Given the description of an element on the screen output the (x, y) to click on. 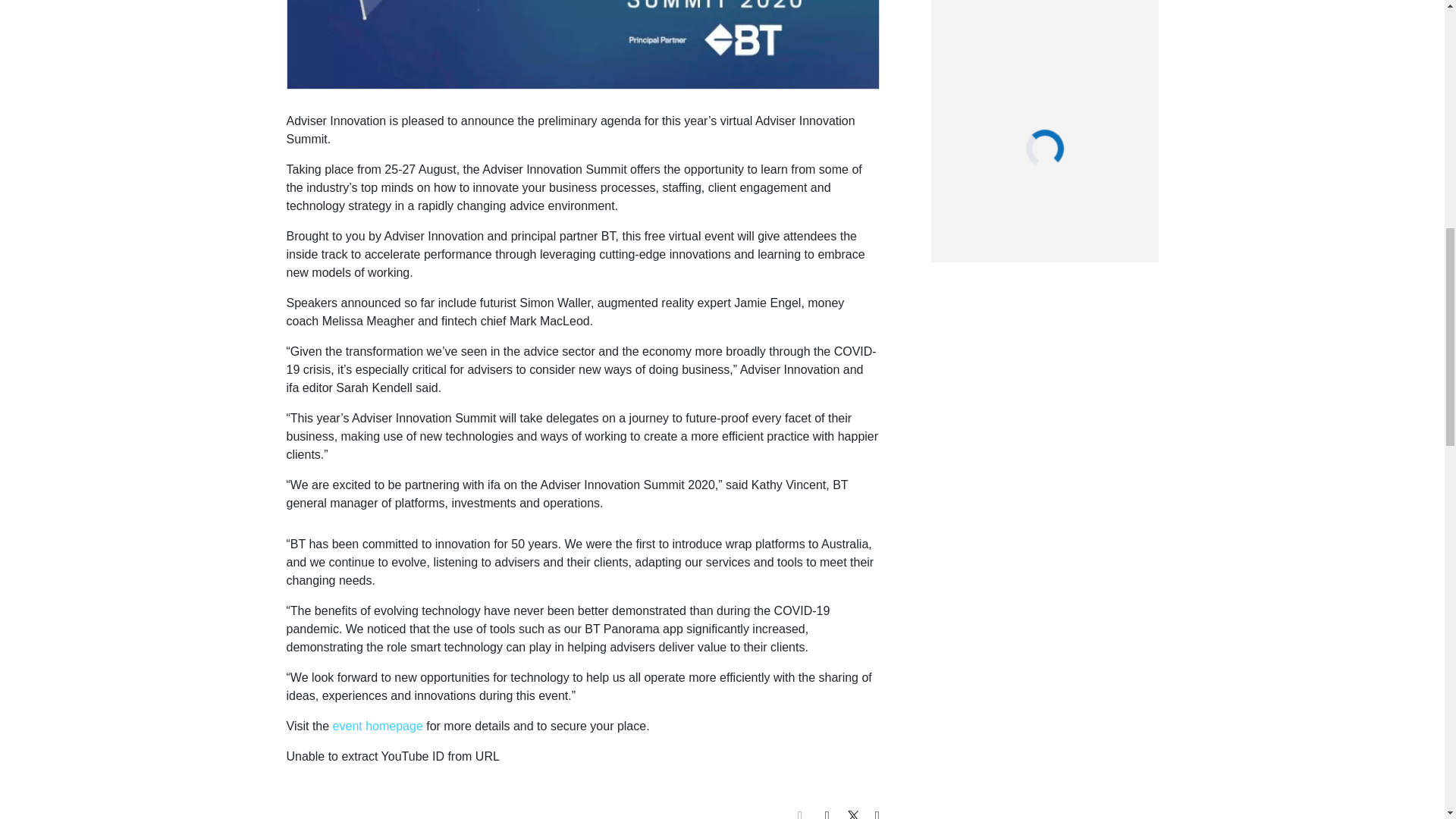
event homepage (378, 725)
